Given the description of an element on the screen output the (x, y) to click on. 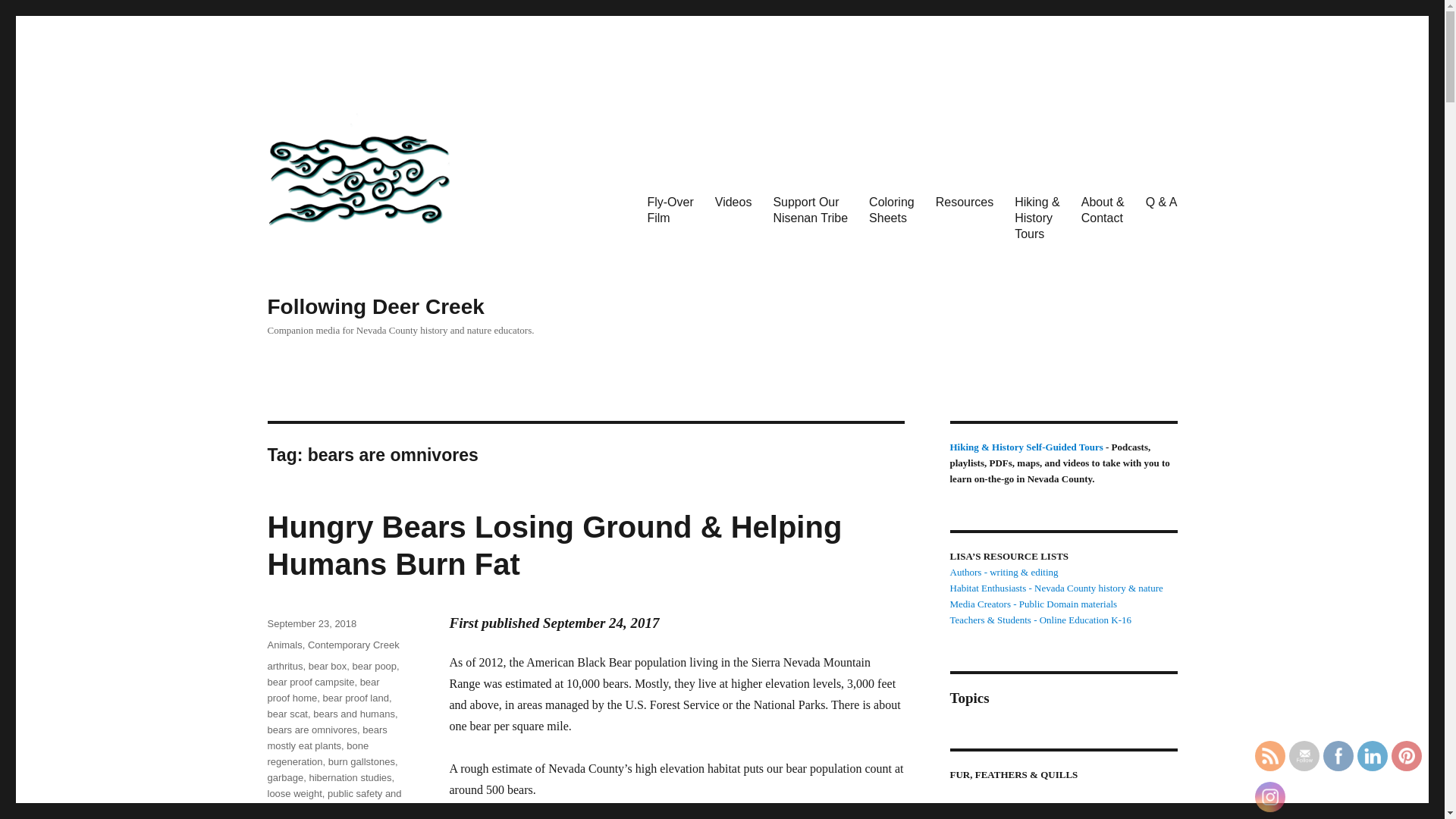
bears and humans (353, 713)
bear box (327, 665)
LinkedIn (1372, 755)
garbage (284, 777)
Instagram (1270, 796)
bear poop (374, 665)
Resources (964, 202)
Pinterest (1406, 755)
Videos (733, 202)
Following Deer Creek (374, 306)
